Given the description of an element on the screen output the (x, y) to click on. 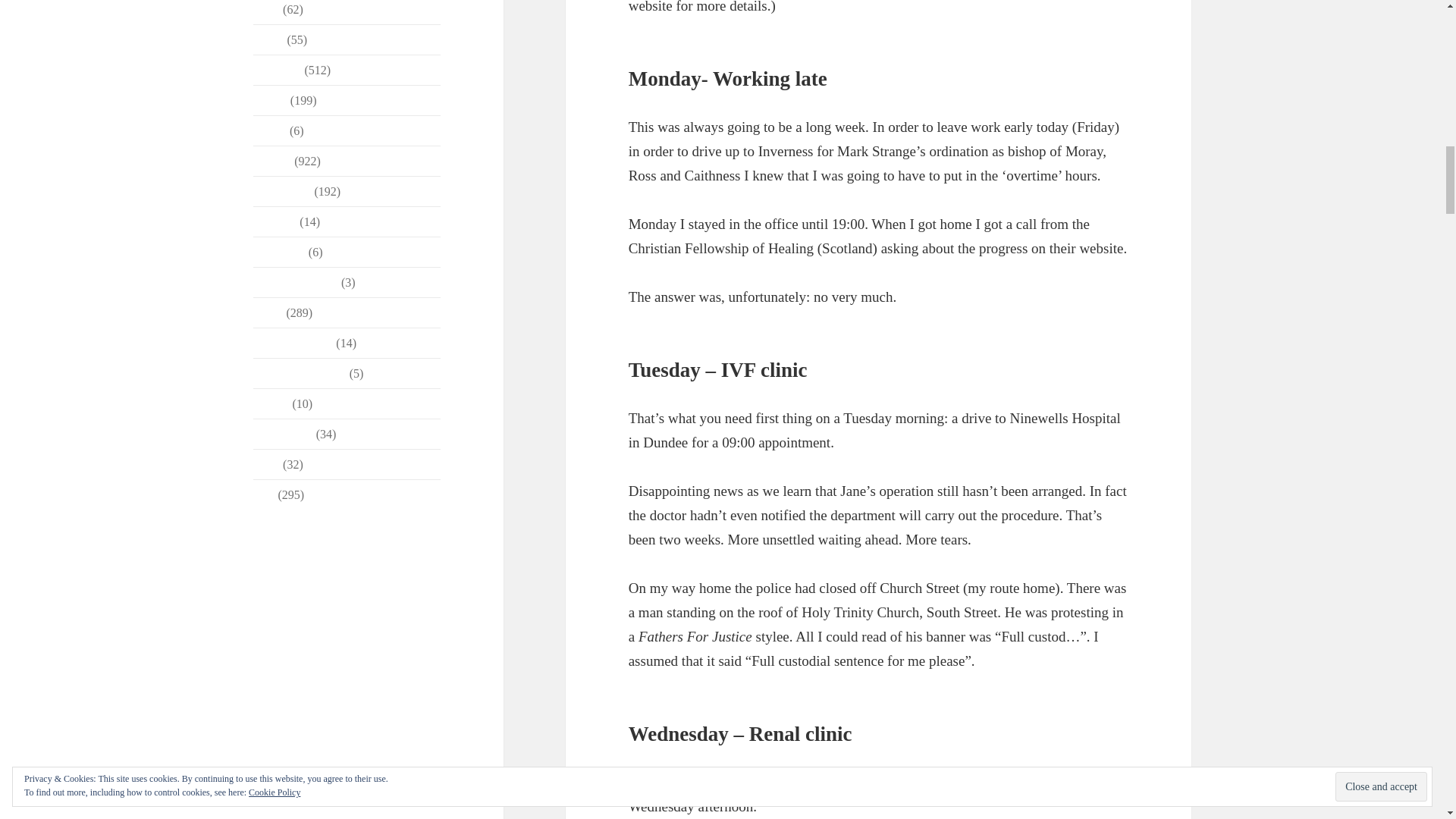
Mahjong (275, 221)
Books (268, 39)
Music (268, 312)
General (272, 160)
Family (269, 100)
Meningitis (279, 251)
God Project (282, 191)
Computer (277, 69)
Microsoft Money (295, 282)
Photon Connection (299, 373)
Agile (267, 9)
Games (269, 130)
